Given the description of an element on the screen output the (x, y) to click on. 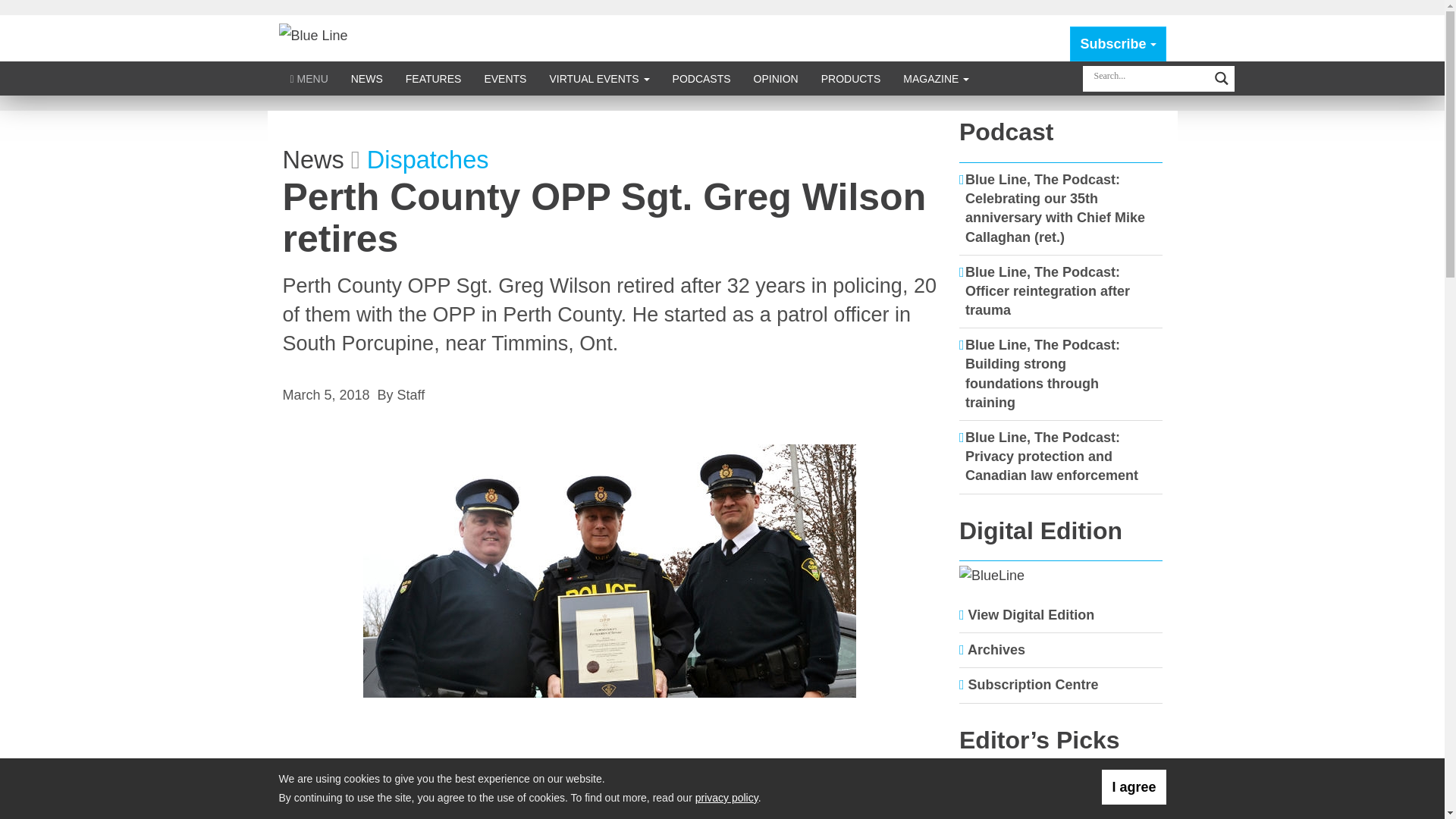
EVENTS (504, 78)
MENU (309, 78)
NEWS (366, 78)
PRODUCTS (850, 78)
MAGAZINE (935, 78)
Click to show site navigation (309, 78)
OPINION (775, 78)
Subscribe (1118, 43)
FEATURES (433, 78)
Blue Line (313, 34)
